Given the description of an element on the screen output the (x, y) to click on. 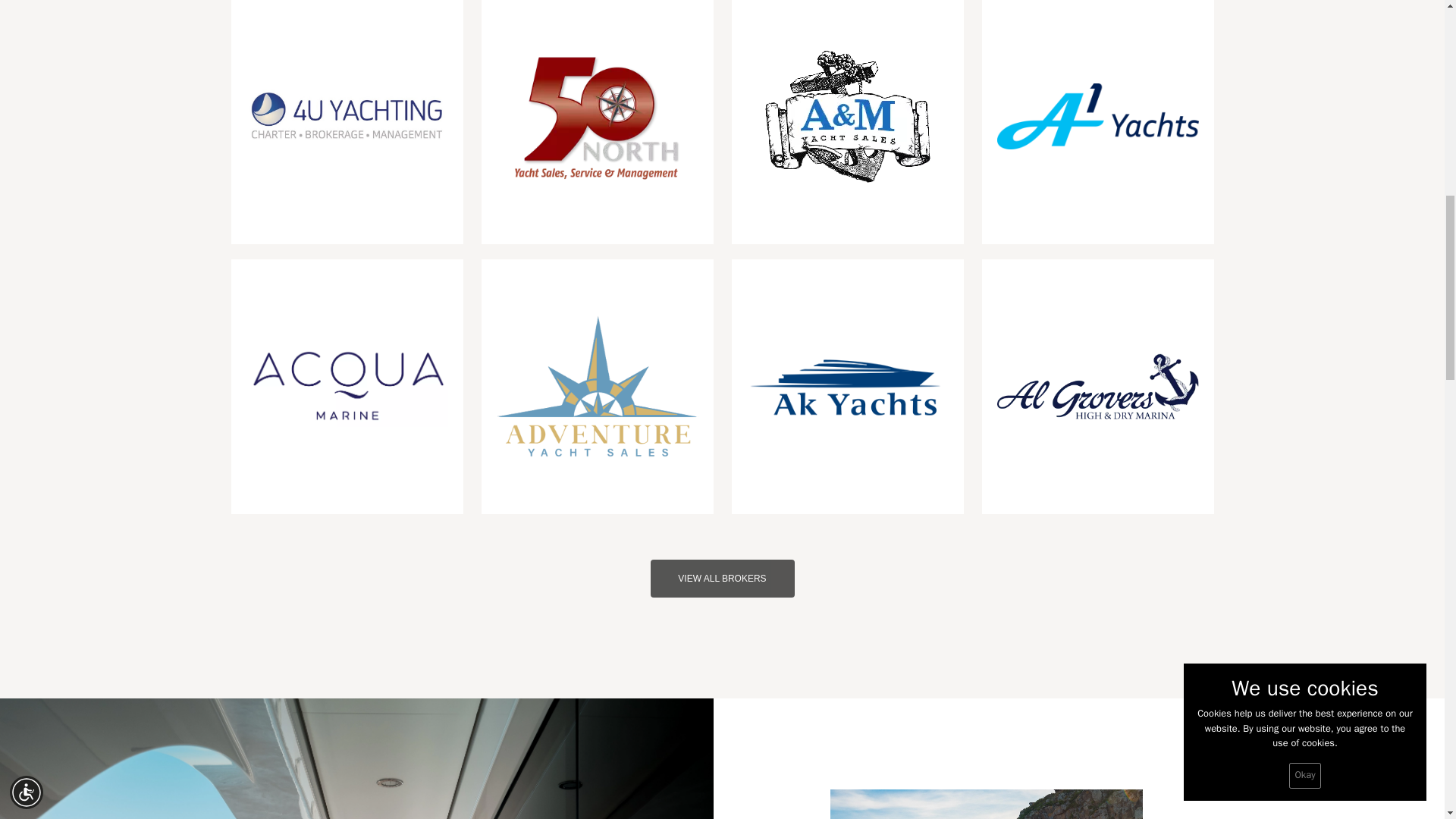
4U Yachting (346, 116)
Al Grover's High and Dry Marina (1096, 385)
A1 Yachts (1096, 116)
50 North Yachts (597, 115)
Ak Yachts (846, 386)
Adventure Yacht Sales (596, 386)
Acqua Marine (346, 385)
